Given the description of an element on the screen output the (x, y) to click on. 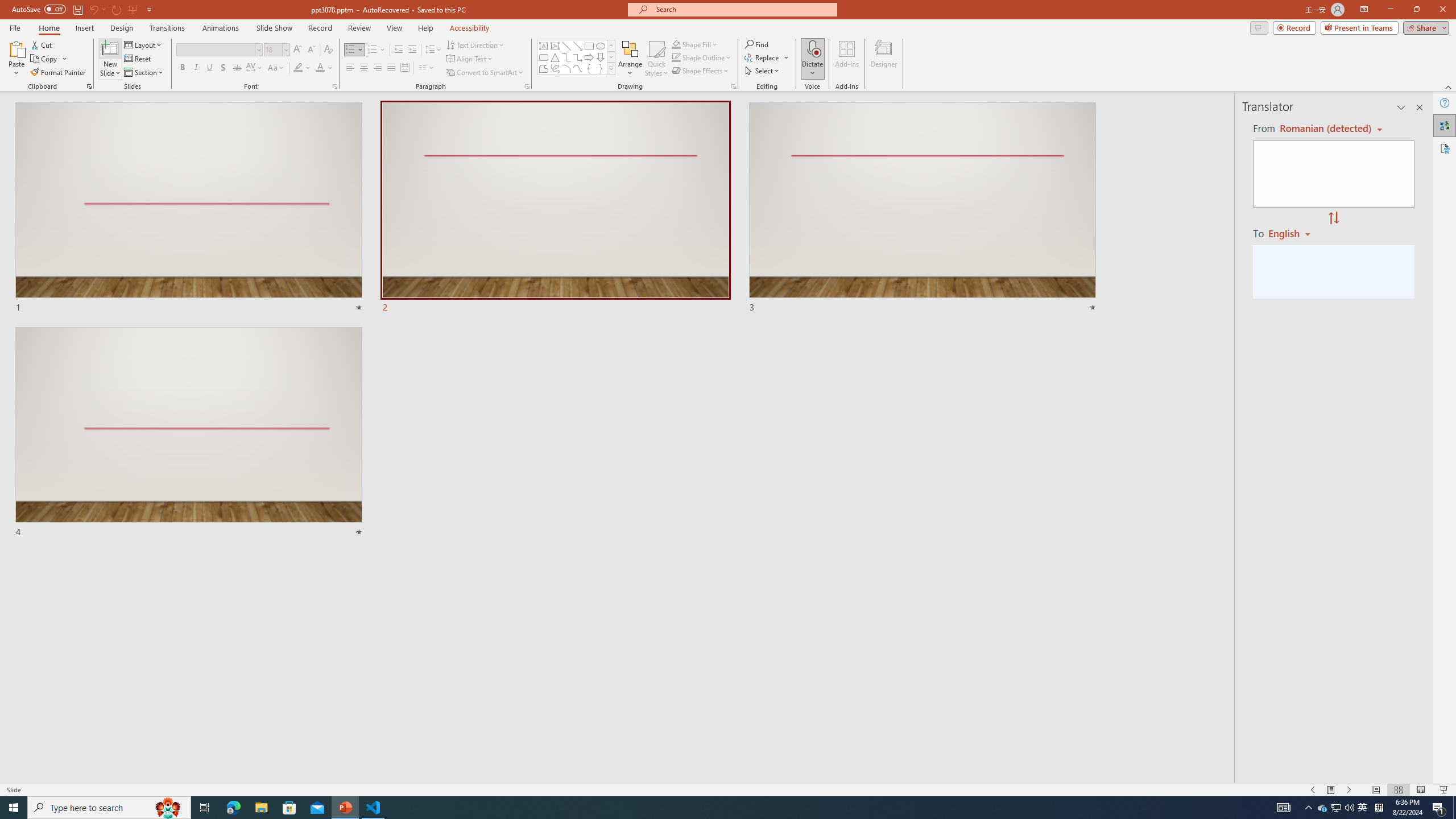
Distributed (404, 67)
Right Brace (600, 68)
Romanian (1293, 232)
Bold (182, 67)
Line Spacing (433, 49)
Freeform: Shape (543, 68)
Select (762, 69)
